Given the description of an element on the screen output the (x, y) to click on. 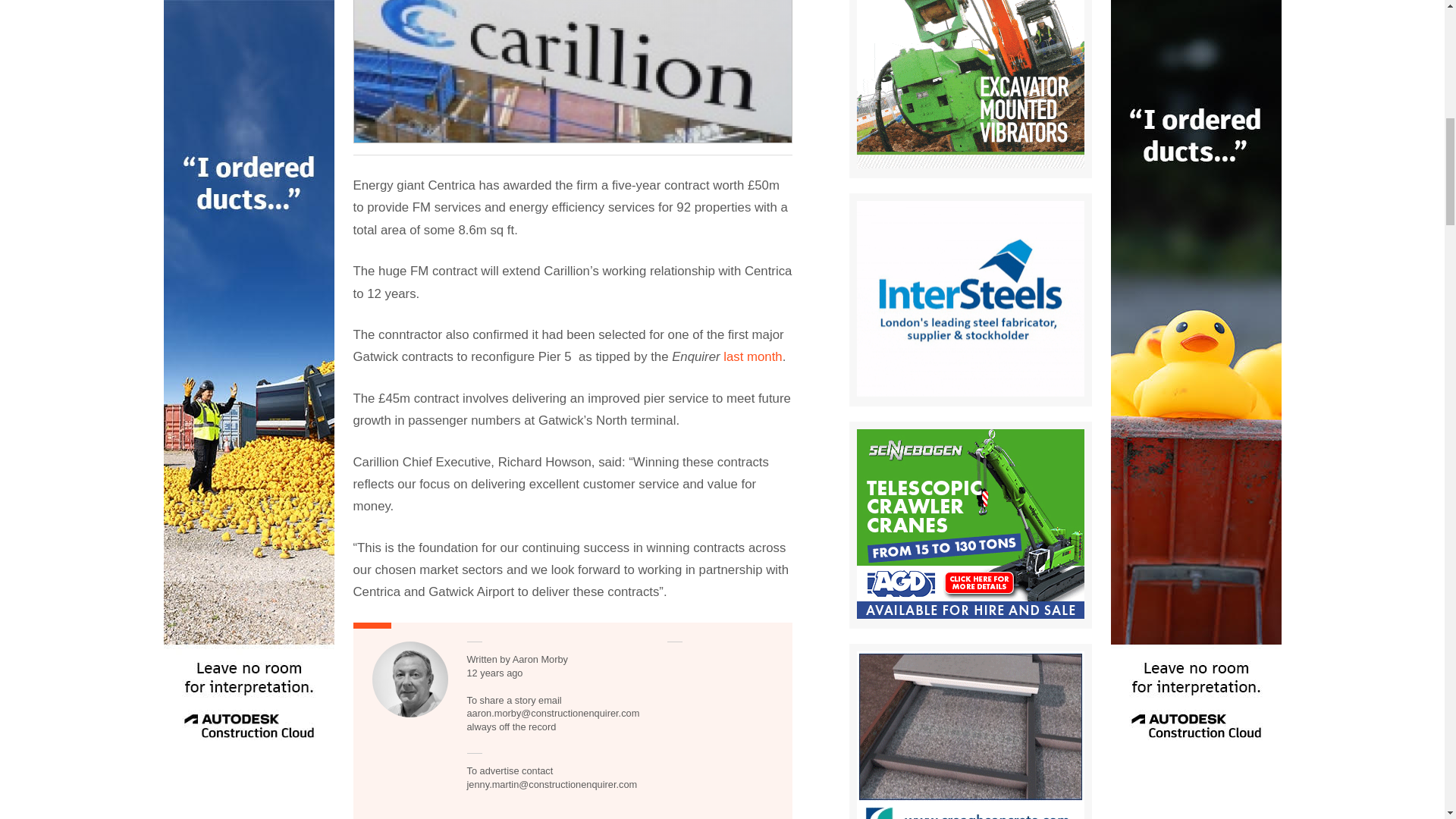
last month (752, 356)
